Given the description of an element on the screen output the (x, y) to click on. 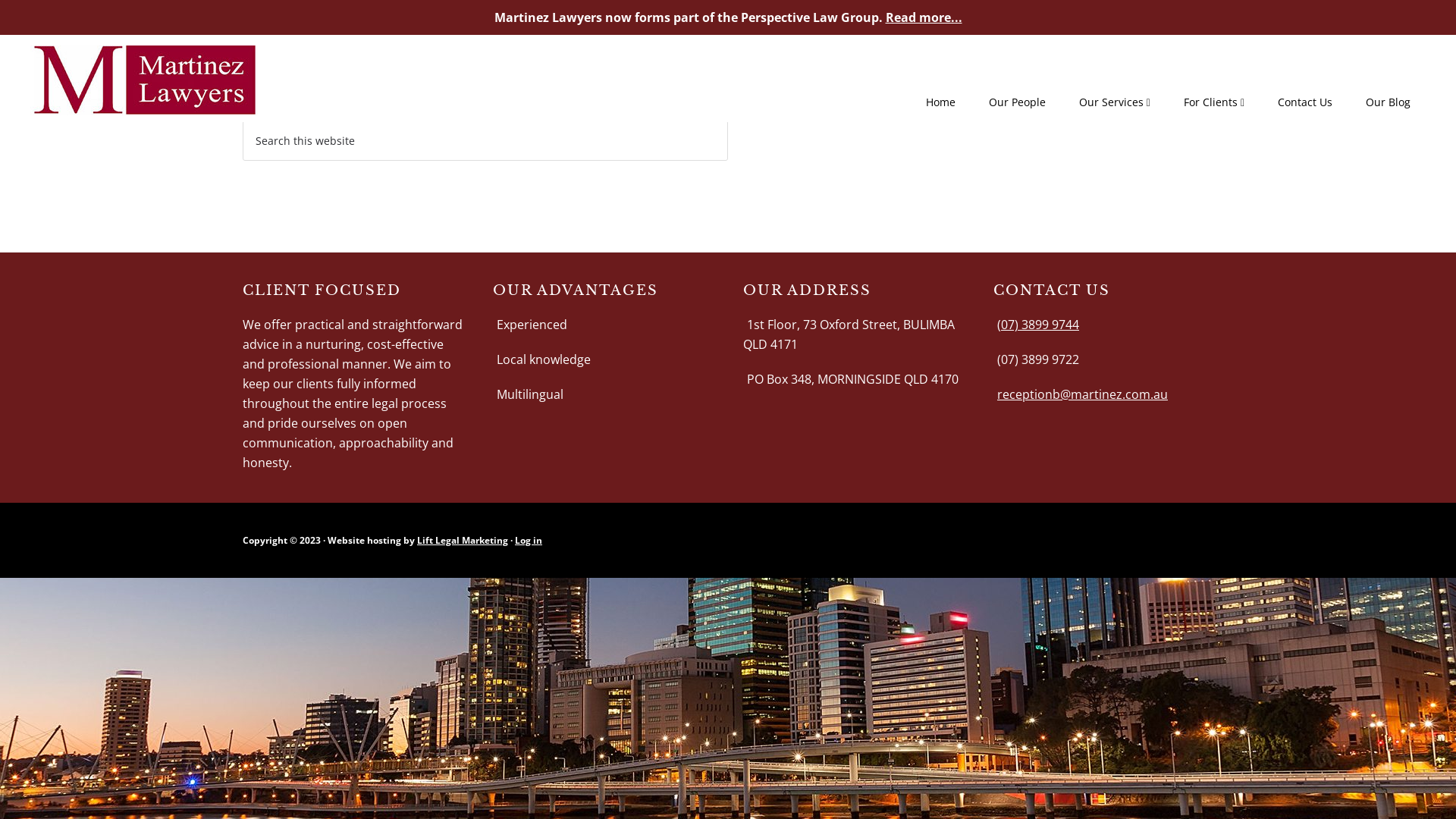
Contact Us Element type: text (1304, 102)
receptionb@martinez.com.au Element type: text (1082, 393)
Martinez Lawyers Element type: hover (143, 105)
Our Blog Element type: text (1387, 102)
Home Element type: text (940, 102)
Log in Element type: text (528, 539)
Search Element type: text (727, 119)
Our Services Element type: text (1114, 102)
Read more... Element type: text (923, 17)
For Clients Element type: text (1213, 102)
Lift Legal Marketing Element type: text (462, 539)
homepage Element type: text (741, 69)
Our People Element type: text (1016, 102)
(07) 3899 9744 Element type: text (1038, 324)
